Given the description of an element on the screen output the (x, y) to click on. 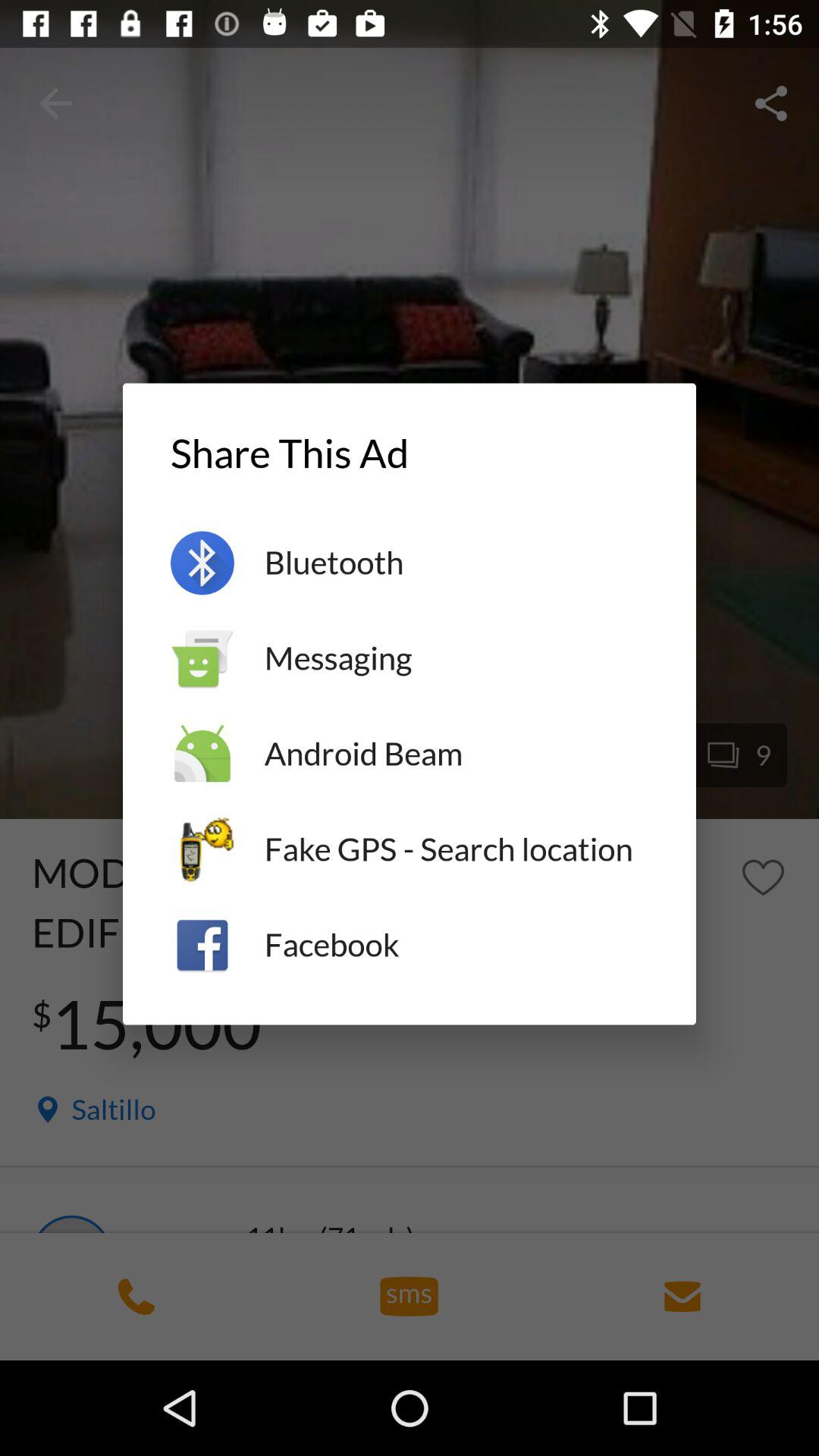
open item above messaging item (456, 562)
